Given the description of an element on the screen output the (x, y) to click on. 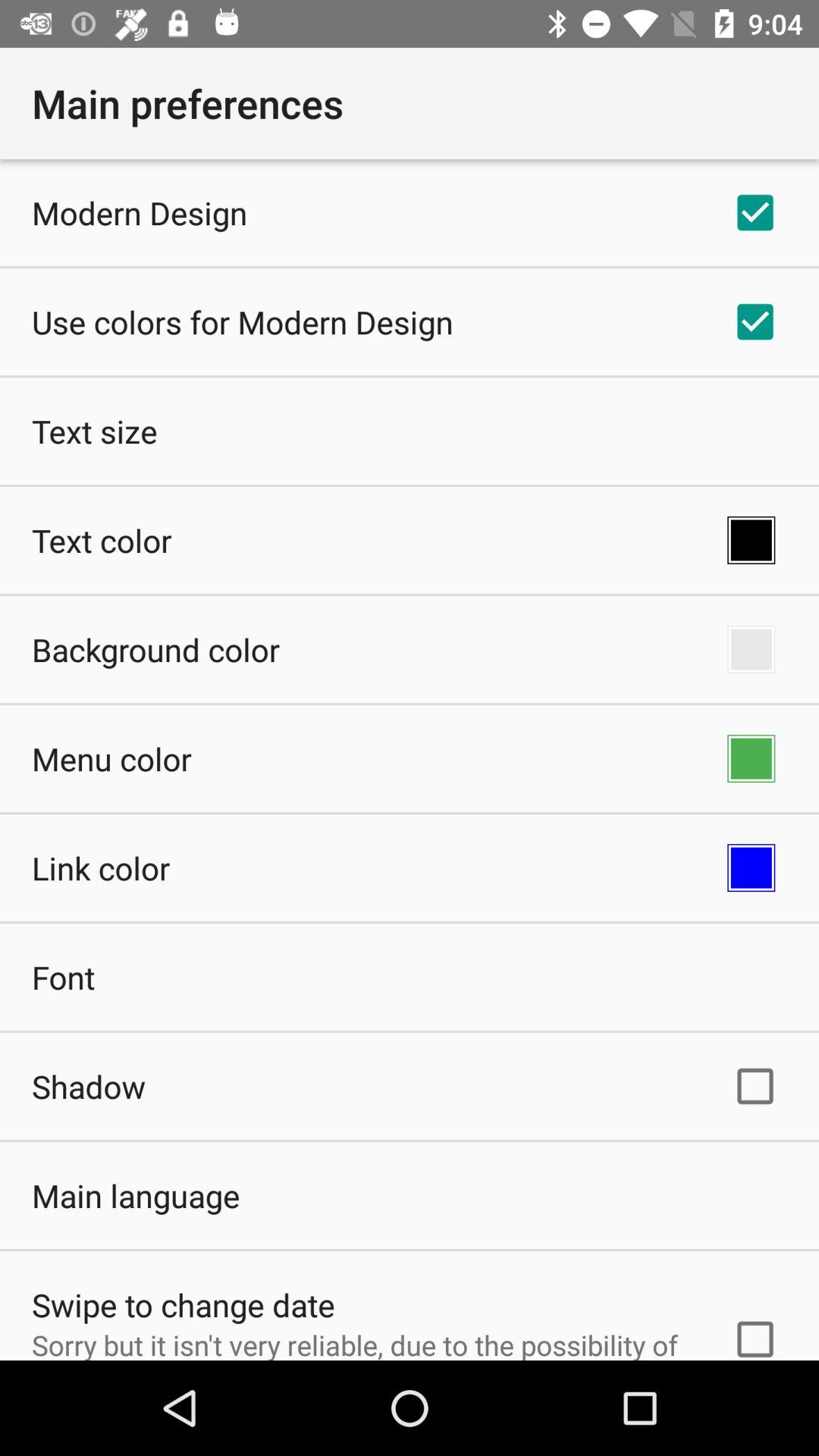
tap font icon (62, 976)
